Given the description of an element on the screen output the (x, y) to click on. 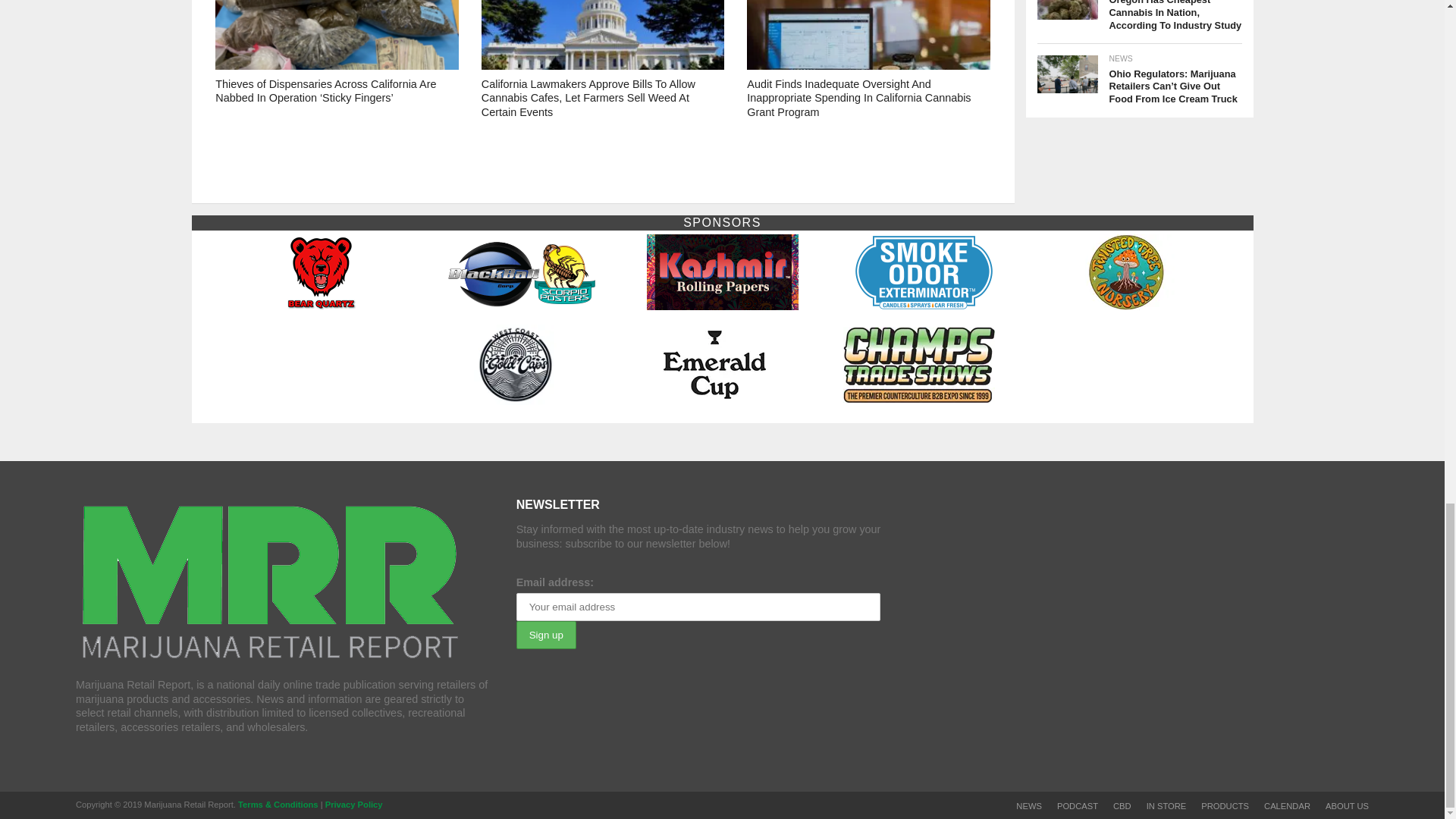
Sign up (546, 634)
